Given the description of an element on the screen output the (x, y) to click on. 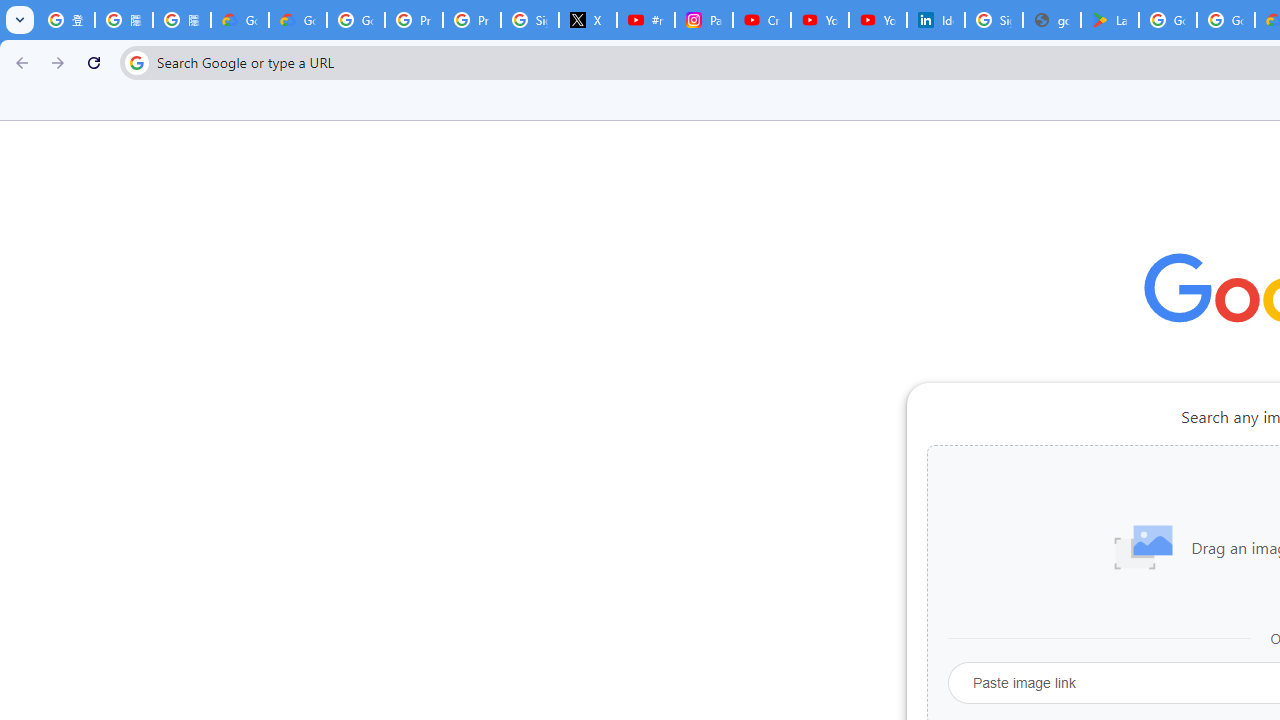
Google Cloud Privacy Notice (239, 20)
Sign in - Google Accounts (529, 20)
Privacy Help Center - Policies Help (471, 20)
Google Cloud Privacy Notice (297, 20)
X (587, 20)
